Given the description of an element on the screen output the (x, y) to click on. 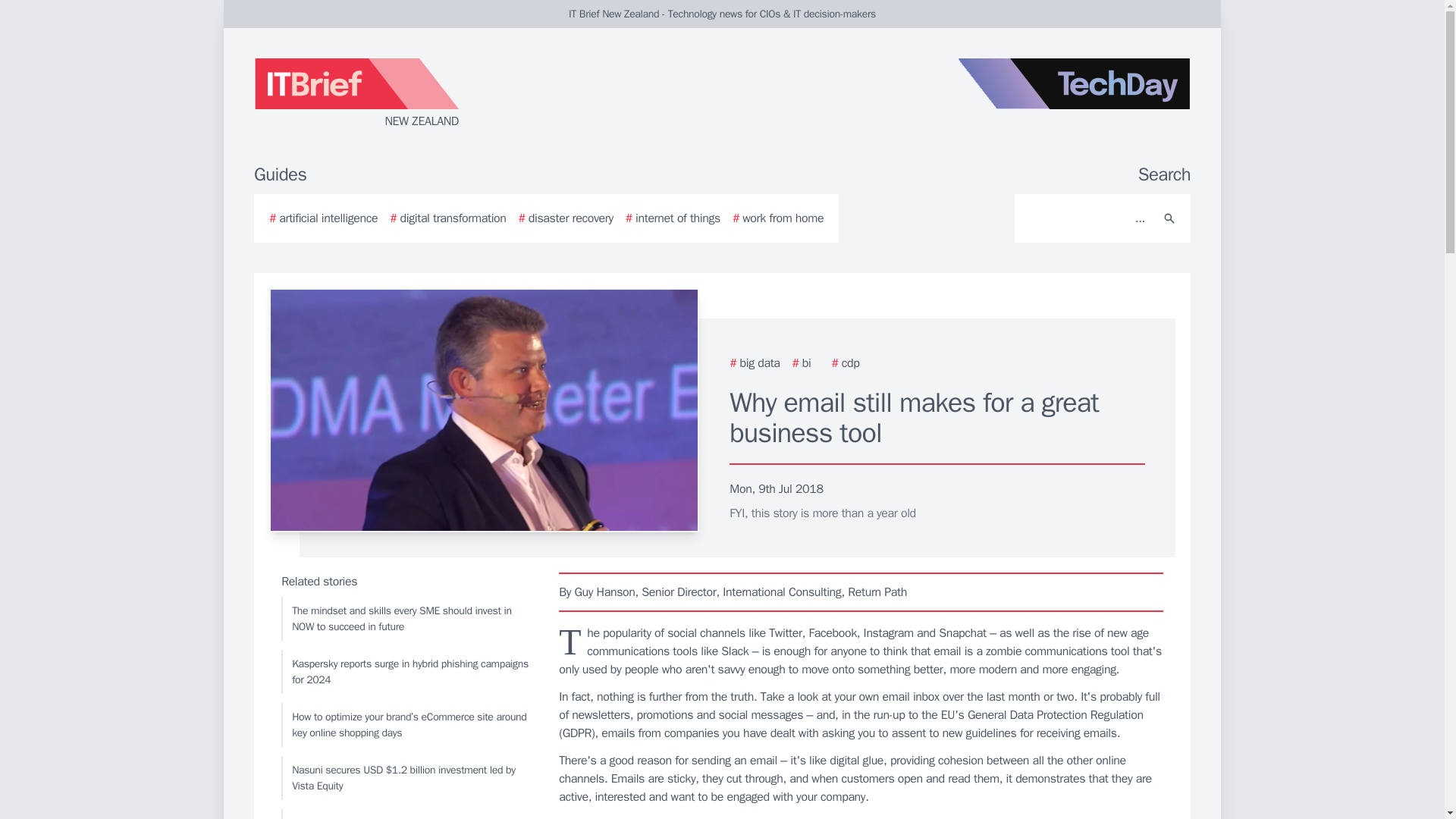
NEW ZEALAND (435, 94)
